Given the description of an element on the screen output the (x, y) to click on. 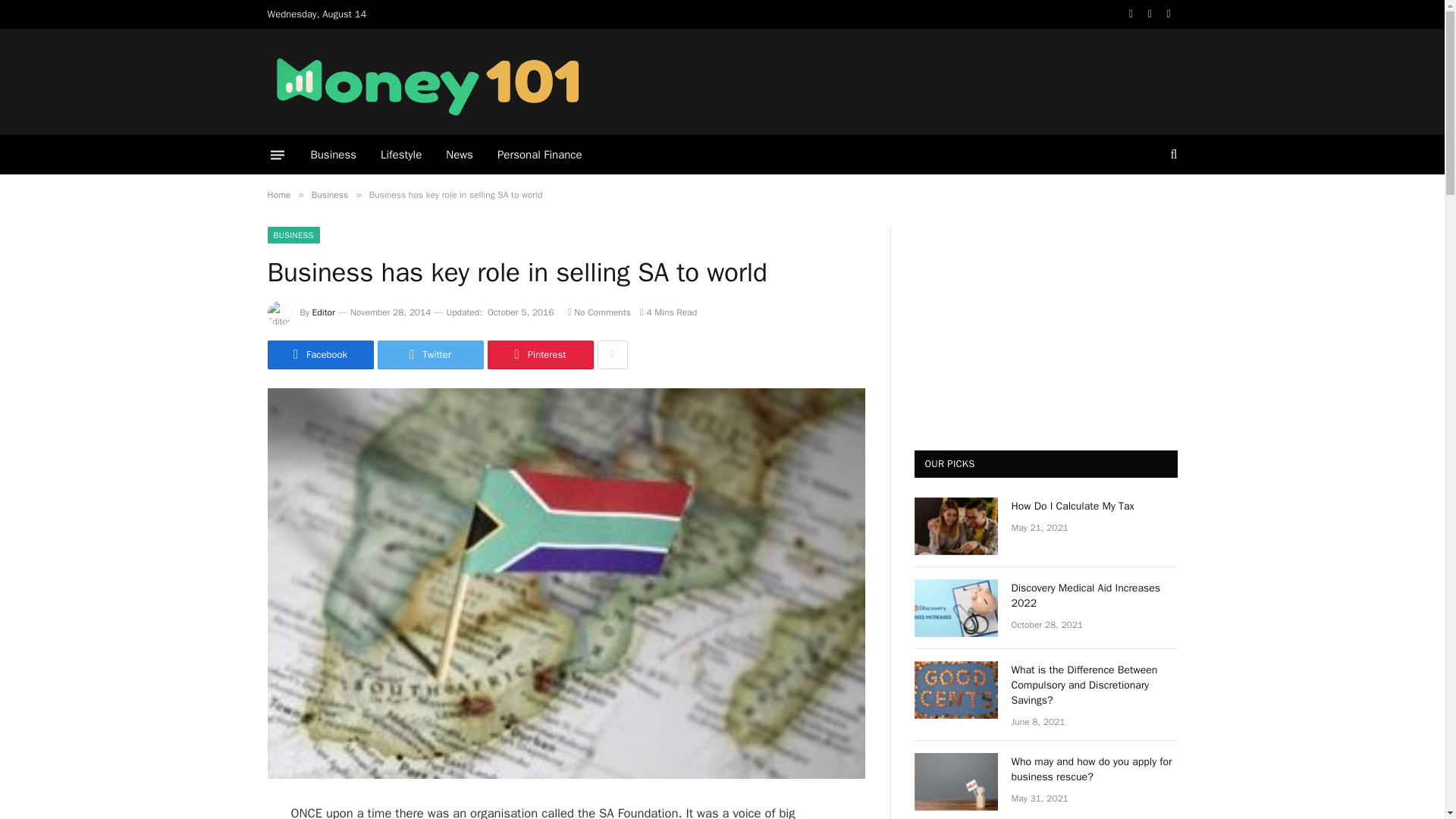
Lifestyle (400, 154)
Personal Finance (539, 154)
Pinterest (539, 354)
News (458, 154)
Posts by Editor (323, 312)
Editor (323, 312)
Share on Pinterest (539, 354)
Business (329, 194)
Facebook (319, 354)
Share on Facebook (319, 354)
